Given the description of an element on the screen output the (x, y) to click on. 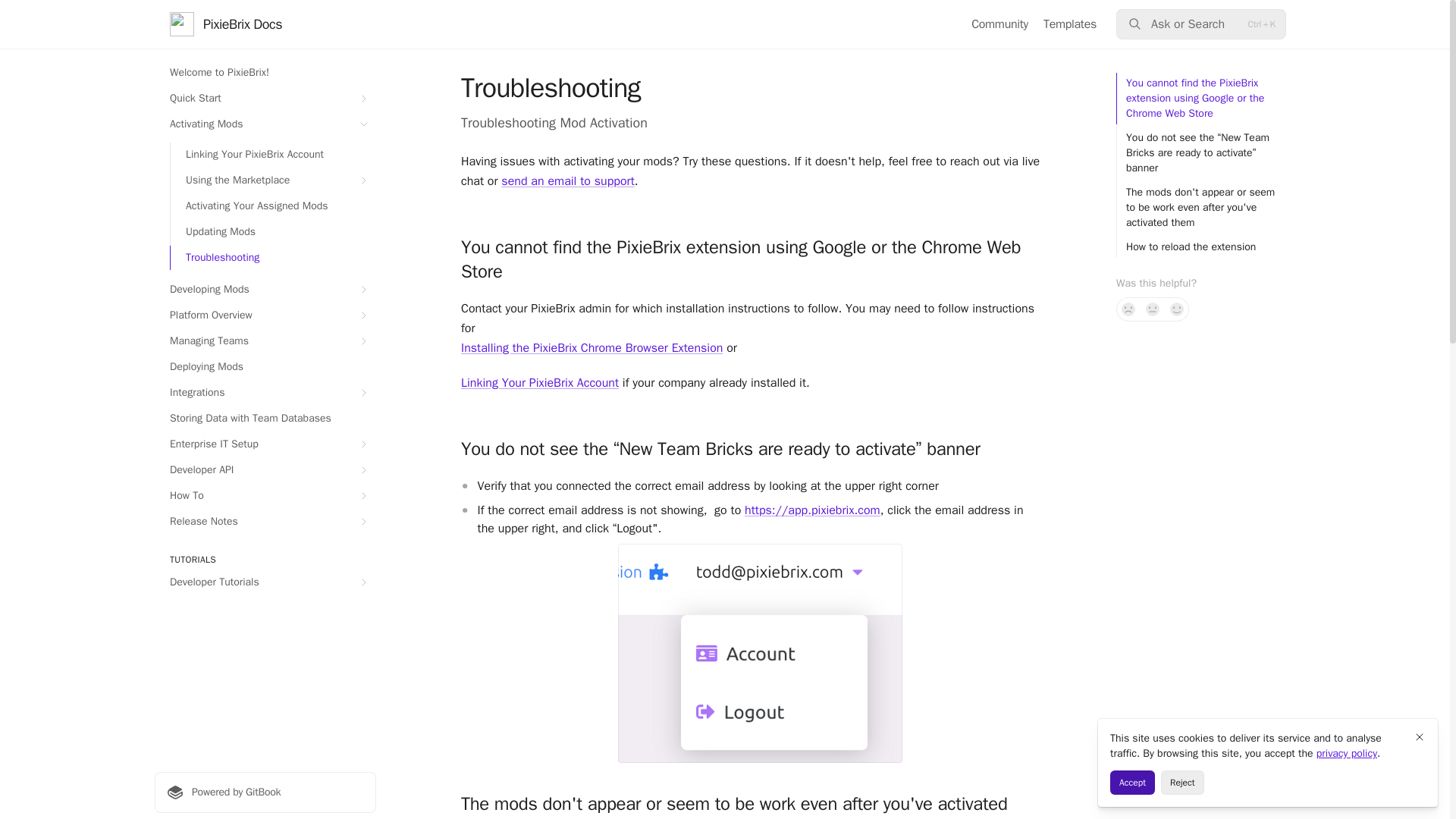
Linking Your PixieBrix Account (272, 154)
Activating Your Assigned Mods (272, 206)
Using the Marketplace (272, 180)
Templates (1069, 24)
Quick Start (264, 98)
Activating Mods (264, 124)
Not sure (1152, 309)
PixieBrix Docs (226, 24)
Updating Mods (272, 232)
Close (1419, 737)
Yes, it was! (1176, 309)
Community (999, 24)
Welcome to PixieBrix! (264, 72)
Troubleshooting (272, 257)
Developing Mods (264, 289)
